Given the description of an element on the screen output the (x, y) to click on. 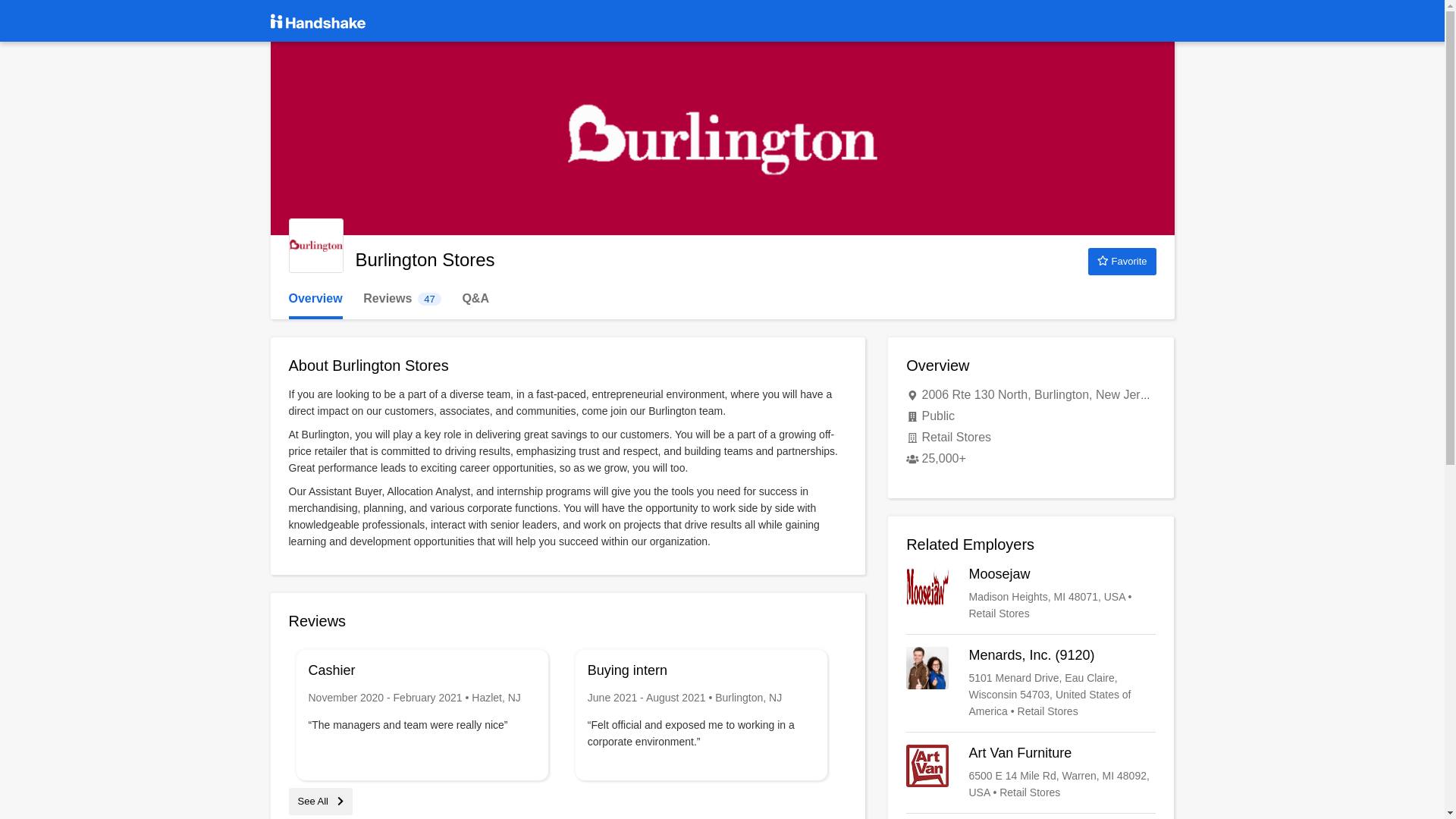
Overview (315, 298)
Art Van Furniture (1030, 772)
See All (320, 800)
Burlington Stores (315, 245)
Favorite (401, 298)
Moosejaw (1121, 261)
